Given the description of an element on the screen output the (x, y) to click on. 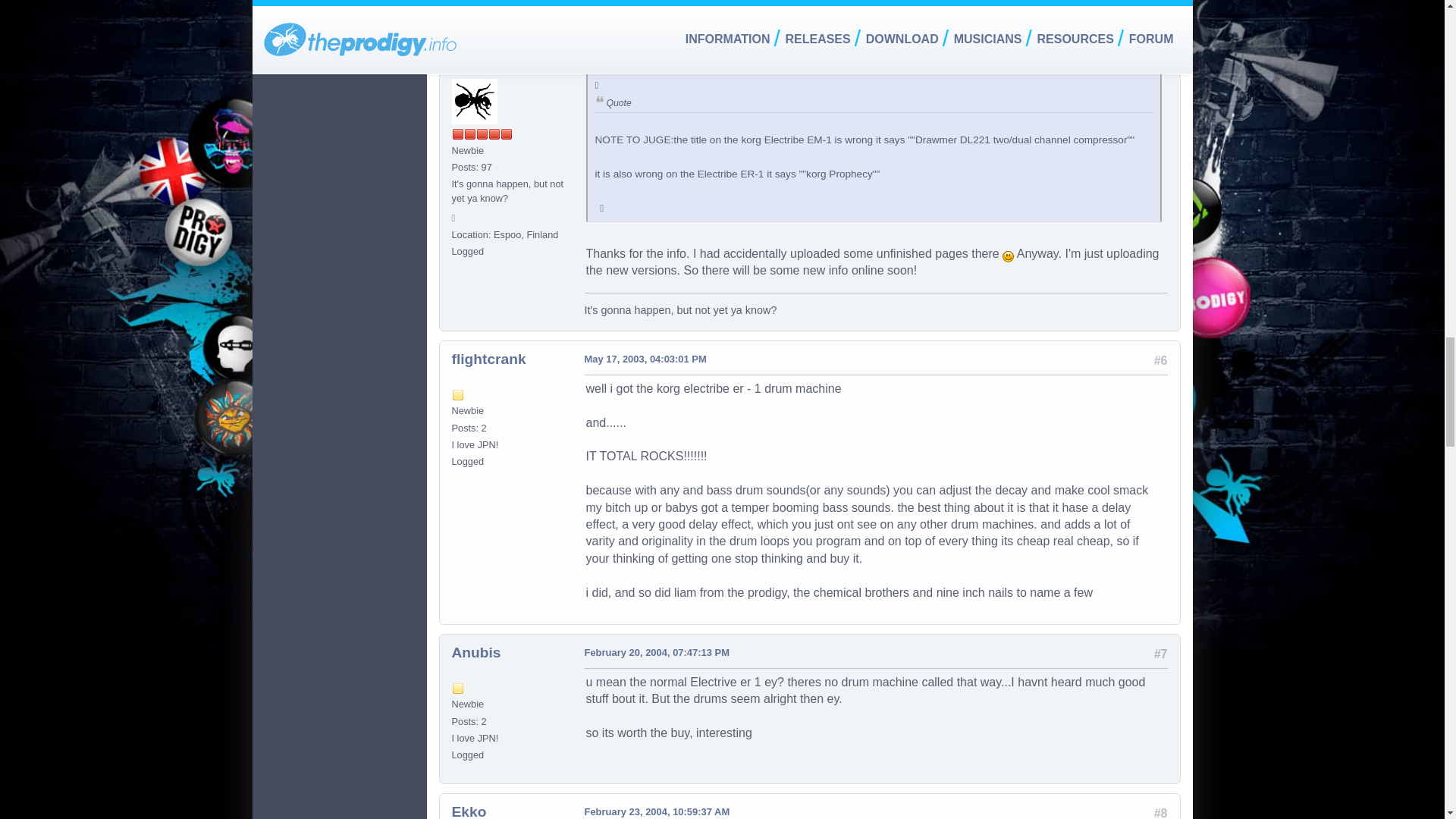
View the profile of juGe (467, 50)
Smiley (1008, 256)
